Given the description of an element on the screen output the (x, y) to click on. 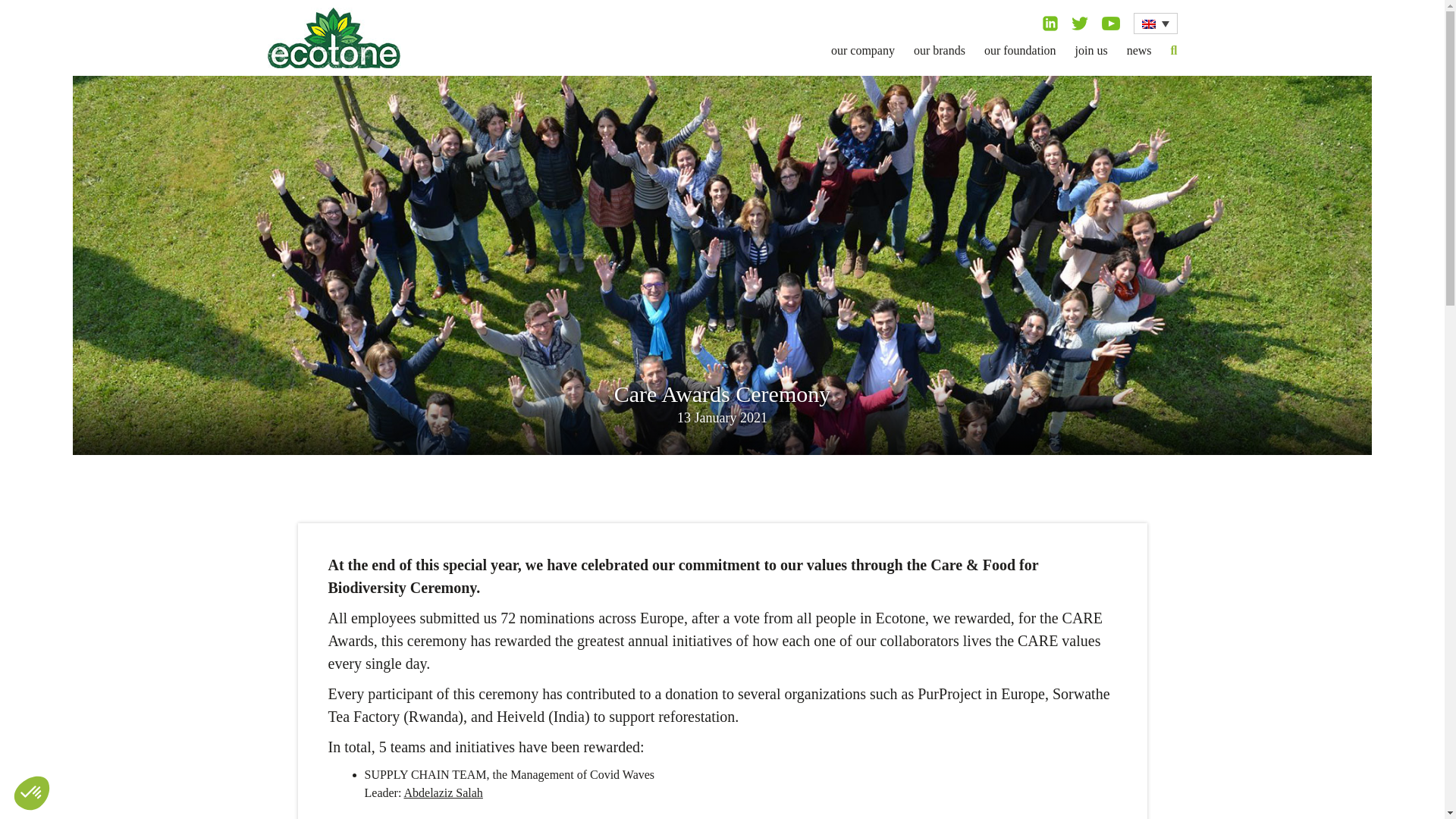
our brands (939, 50)
Abdelaziz Salah (442, 792)
0 (106, 766)
join us (1091, 50)
news (1138, 50)
Manage your preferences about cookies (31, 792)
our foundation (1020, 50)
our company (863, 50)
